Given the description of an element on the screen output the (x, y) to click on. 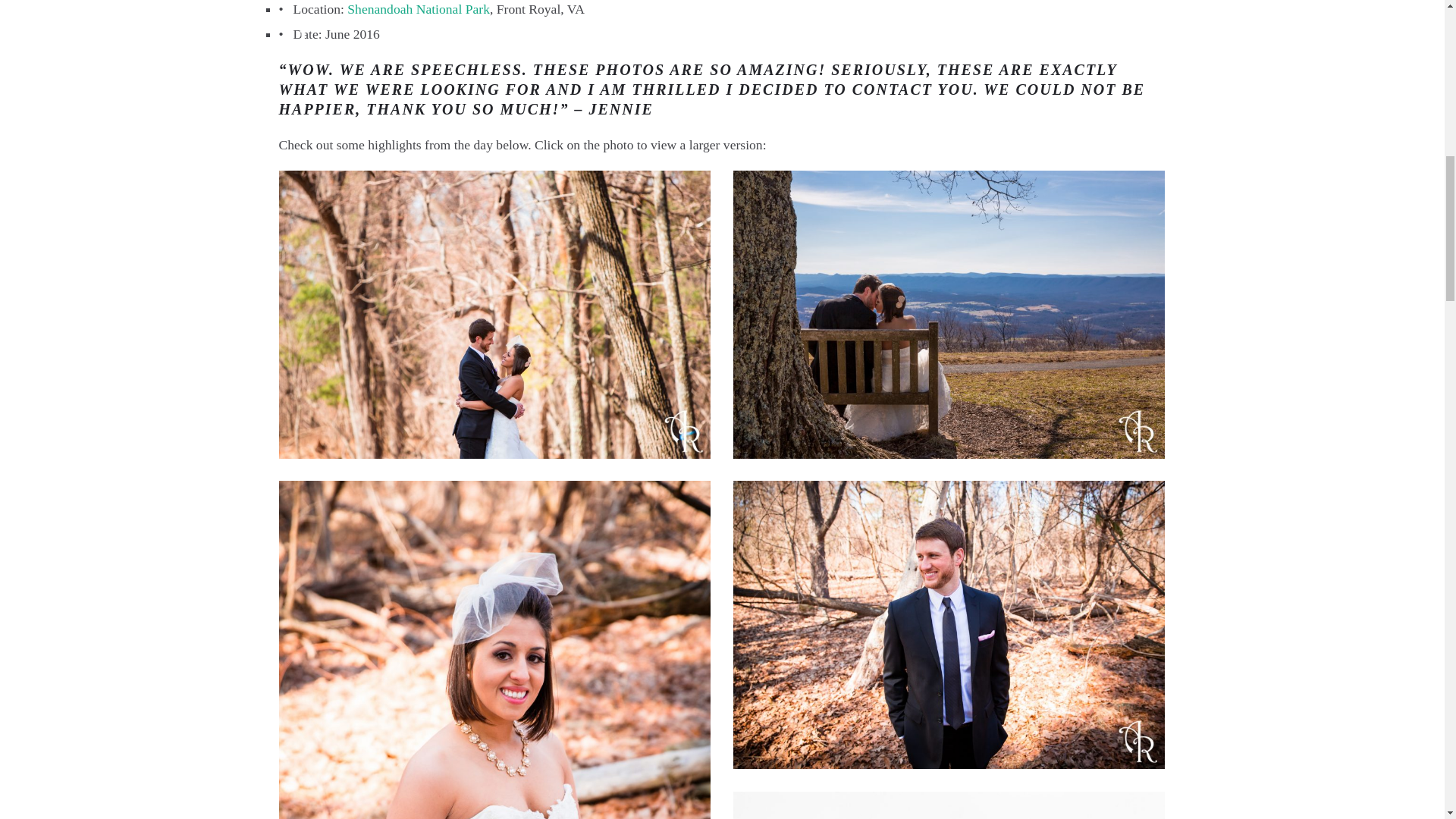
Shenandoah National Park (418, 8)
